Given the description of an element on the screen output the (x, y) to click on. 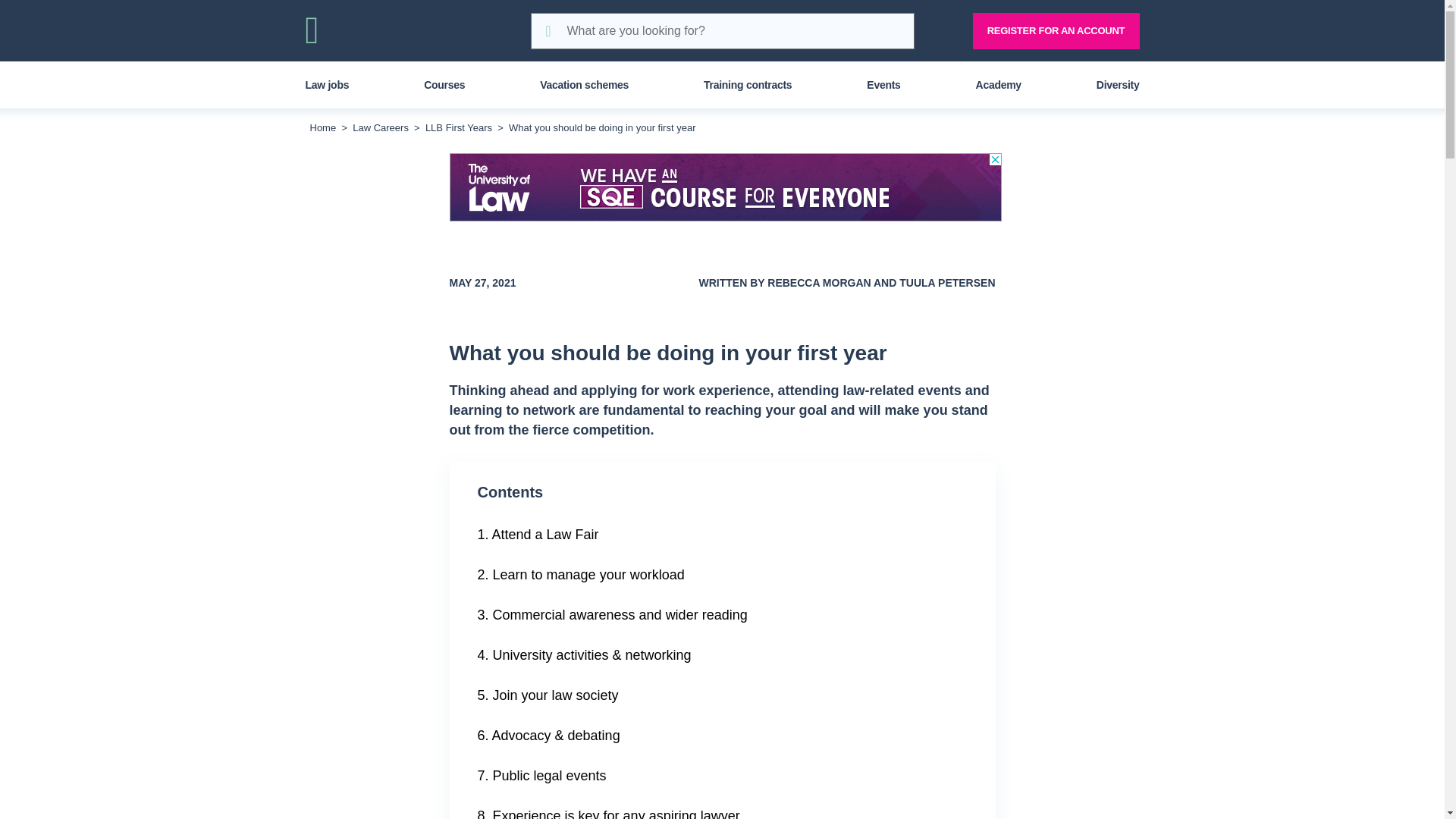
Diversity (1118, 84)
Attend a Law Fair (721, 535)
Public legal events (721, 775)
Experience is key for any aspiring lawyer (721, 807)
REGISTER FOR AN ACCOUNT (1055, 31)
Training contracts (747, 84)
CLOSE (1125, 12)
Learn to manage your workload (1062, 30)
Law Careers (762, 30)
Law jobs (721, 575)
3rd party ad content (380, 127)
Academy (470, 30)
